Given the description of an element on the screen output the (x, y) to click on. 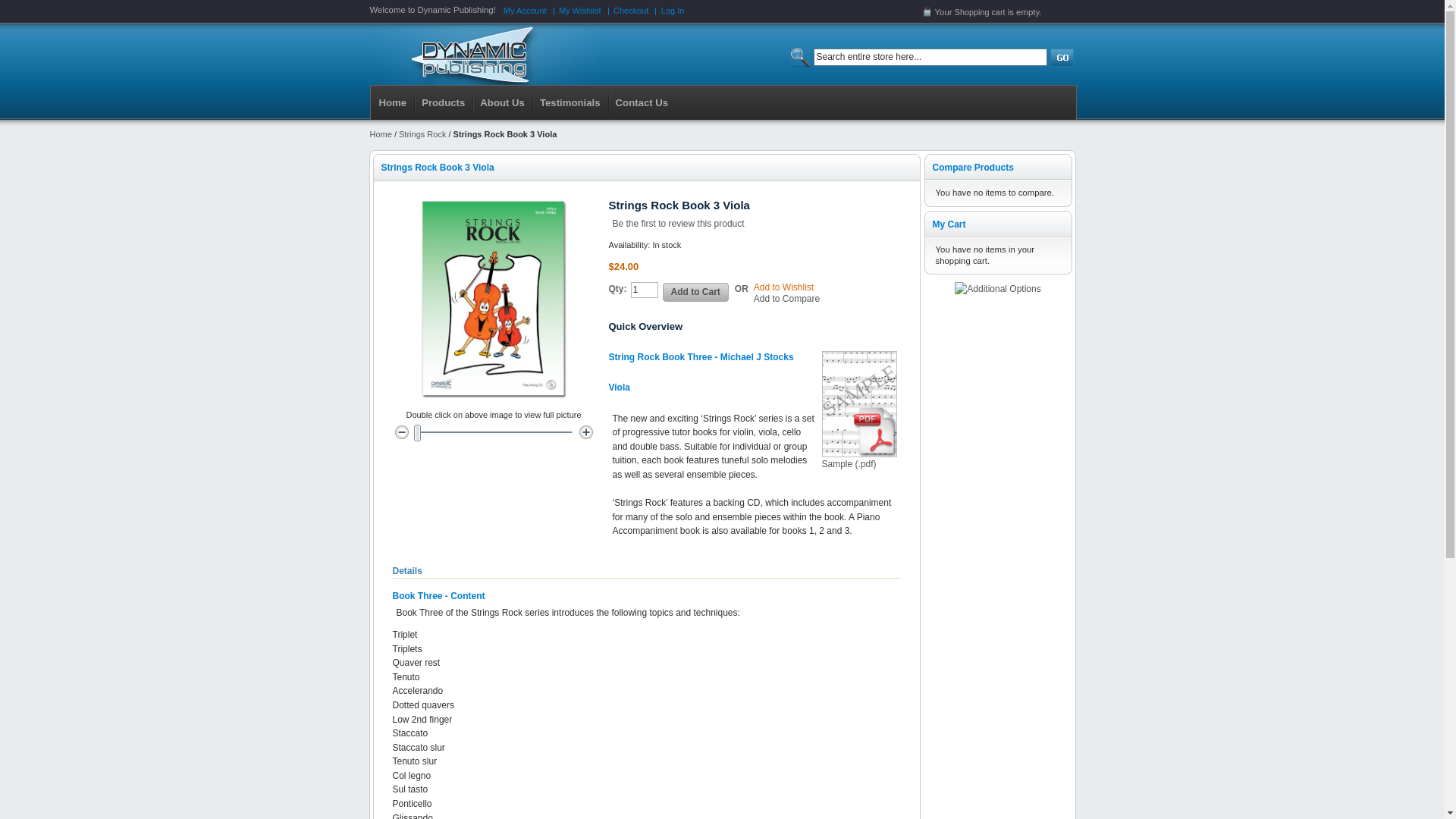
Add to Compare Element type: text (786, 298)
Checkout Element type: text (630, 10)
My Wishlist Element type: text (579, 10)
Zoom In Element type: hover (585, 432)
Additional Options Element type: hover (997, 289)
Zoom Out Element type: hover (401, 432)
About Us Element type: text (503, 102)
Sample (.pdf) Element type: text (859, 410)
Shopping cart Element type: text (979, 11)
Strings Rock - Book 3 - Viola Element type: hover (492, 297)
Add to Cart Element type: text (695, 291)
Dynamic Publishing Element type: hover (484, 53)
Products Element type: text (444, 102)
Contact Us Element type: text (643, 102)
Home Element type: text (381, 133)
Add to Wishlist Element type: text (783, 287)
Home Element type: text (394, 102)
Testimonials Element type: text (571, 102)
Additional Options Element type: hover (997, 288)
Your Shopping cart is empty. Element type: text (999, 12)
Be the first to review this product Element type: text (678, 223)
Strings Rock Element type: text (421, 133)
My Account Element type: text (524, 10)
Qty Element type: hover (644, 290)
Log In Element type: text (672, 10)
